Given the description of an element on the screen output the (x, y) to click on. 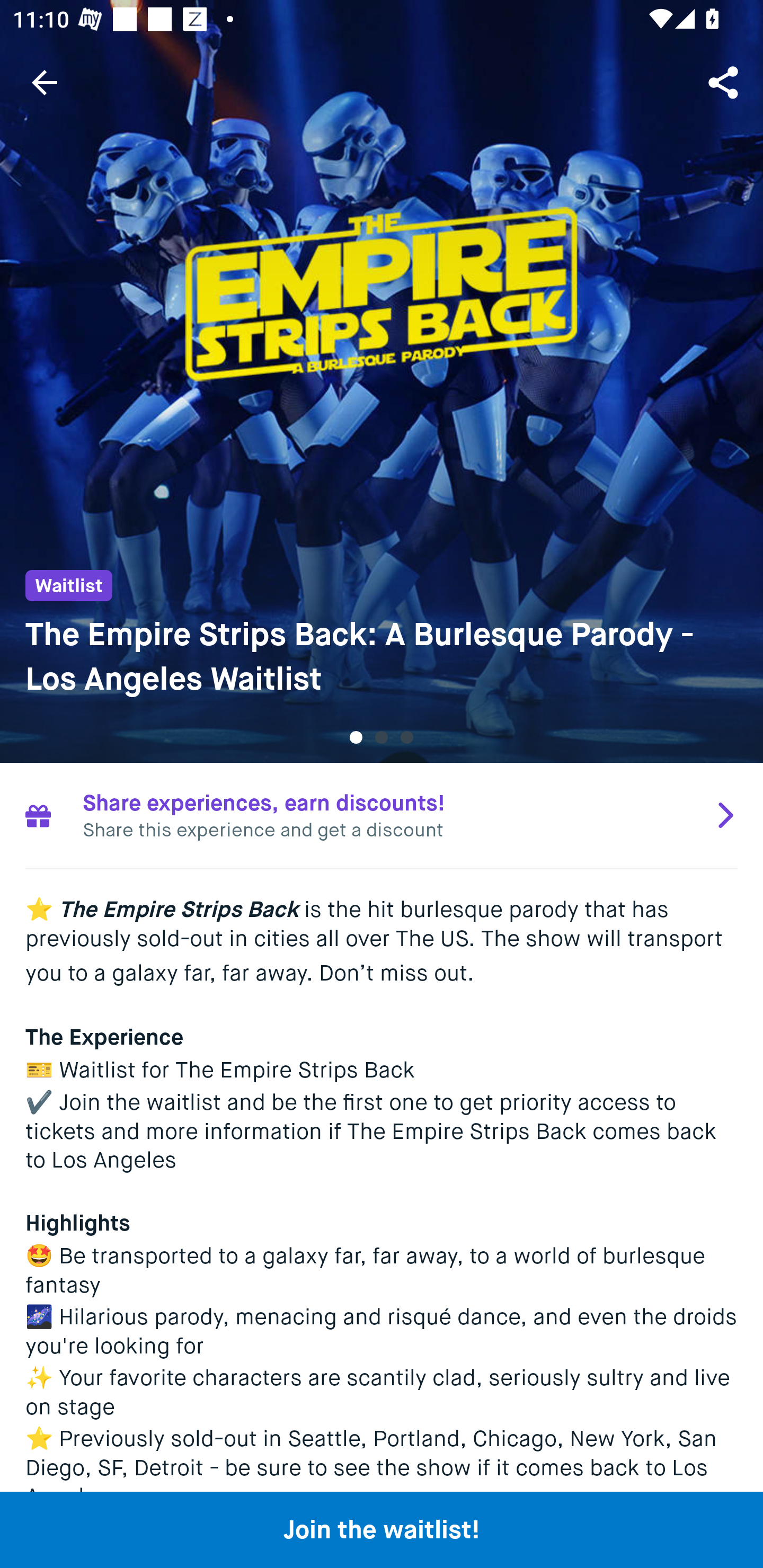
Navigate up (44, 82)
Share (724, 81)
Join the waitlist! (381, 1529)
